Given the description of an element on the screen output the (x, y) to click on. 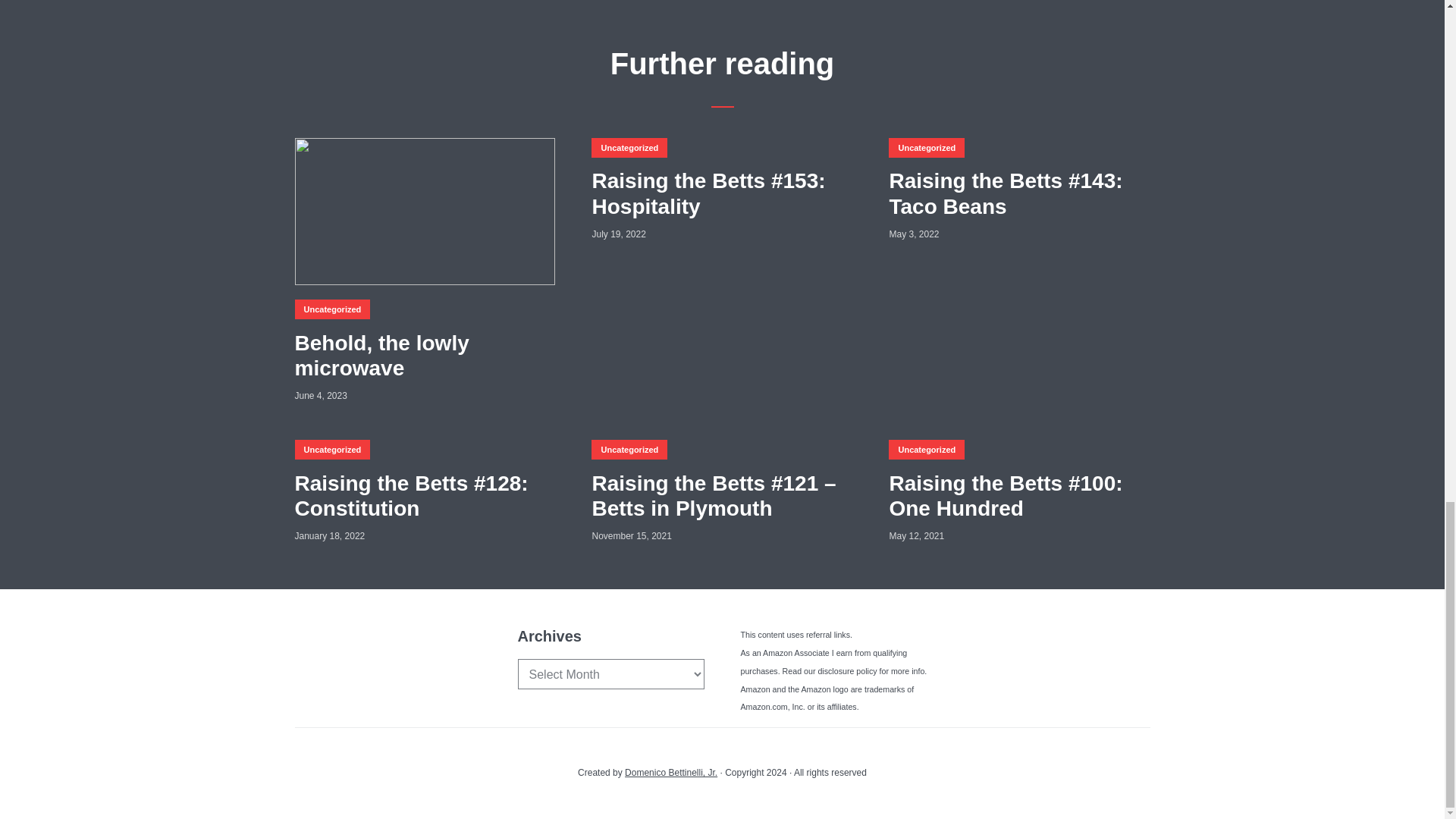
Uncategorized (331, 449)
Uncategorized (628, 449)
Uncategorized (925, 148)
Uncategorized (925, 449)
disclosure policy (846, 670)
Uncategorized (628, 148)
Behold, the lowly microwave (424, 355)
Domenico Bettinelli, Jr. (670, 772)
Uncategorized (331, 309)
